Given the description of an element on the screen output the (x, y) to click on. 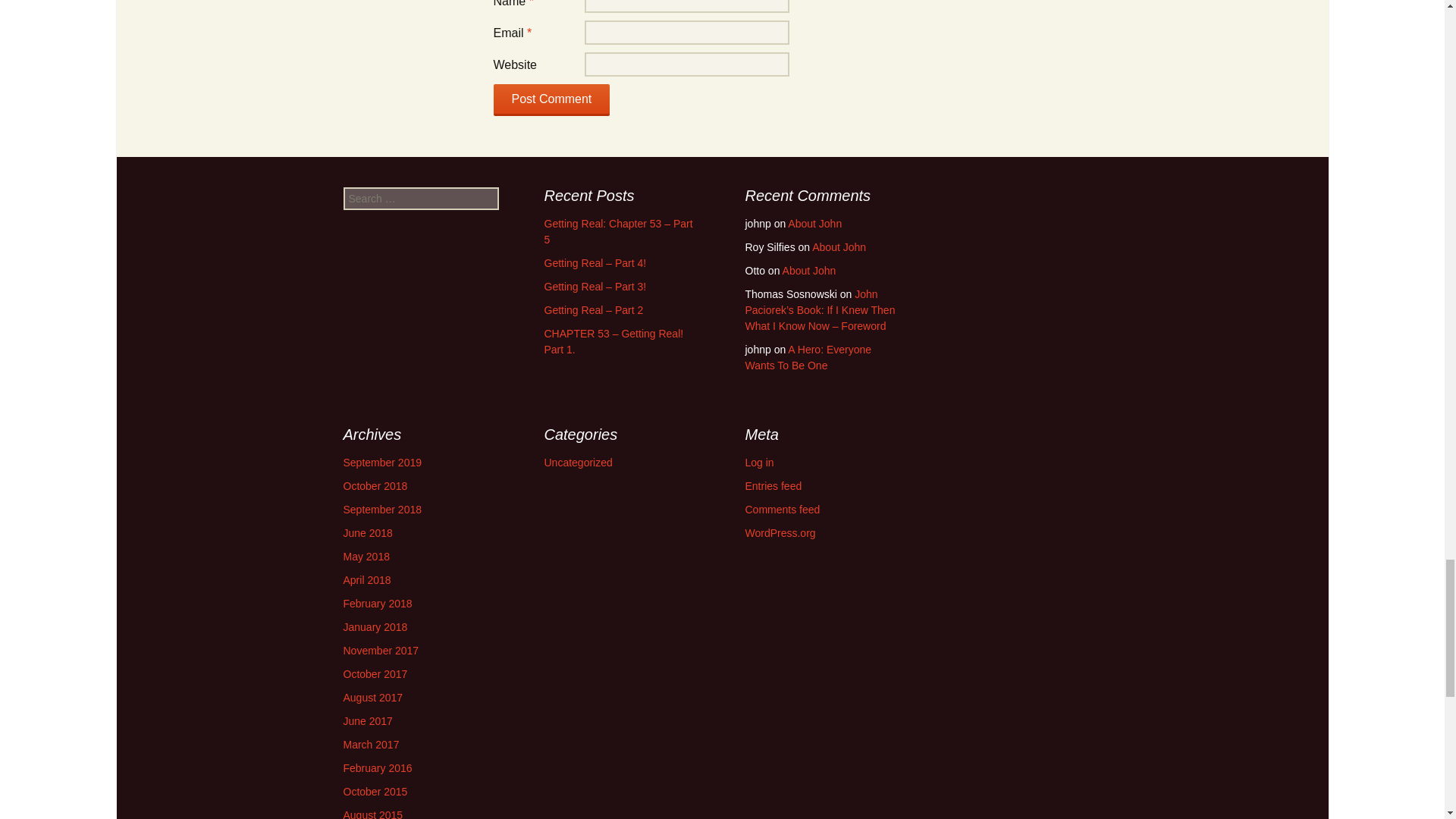
Post Comment (551, 100)
